Given the description of an element on the screen output the (x, y) to click on. 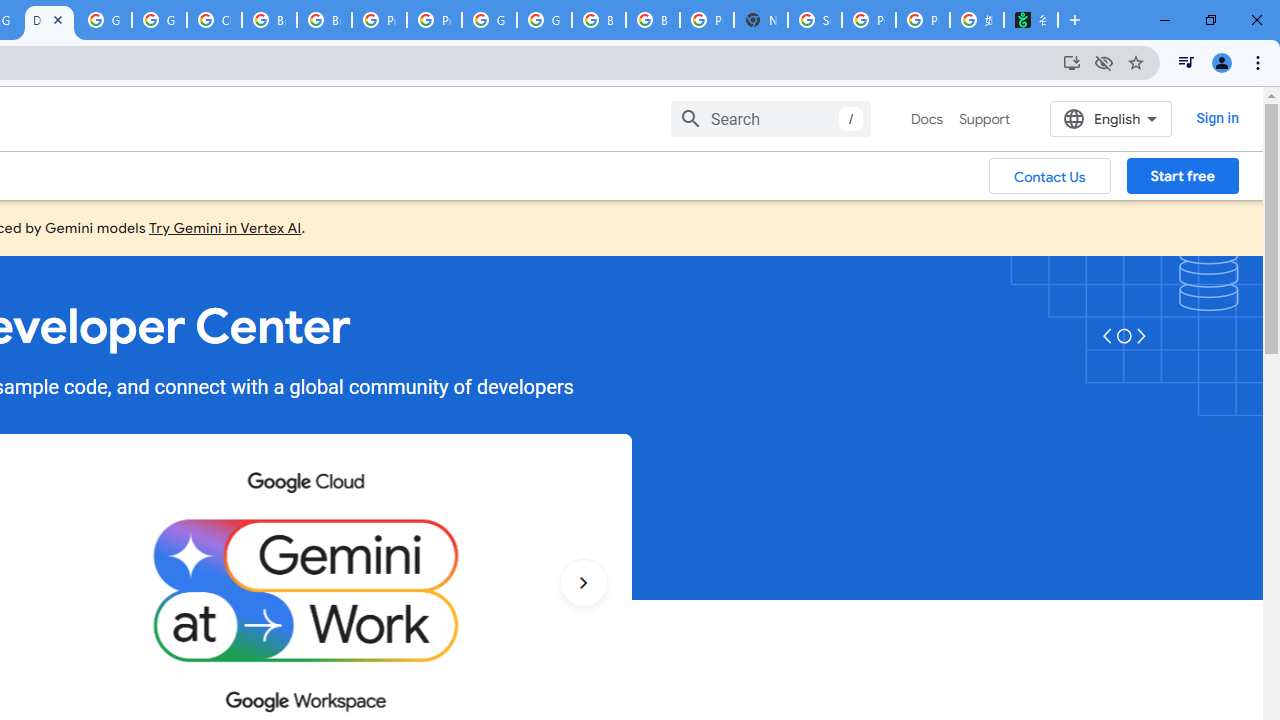
English (1110, 118)
Try Gemini in Vertex AI (225, 227)
Browse Chrome as a guest - Computer - Google Chrome Help (598, 20)
